Given the description of an element on the screen output the (x, y) to click on. 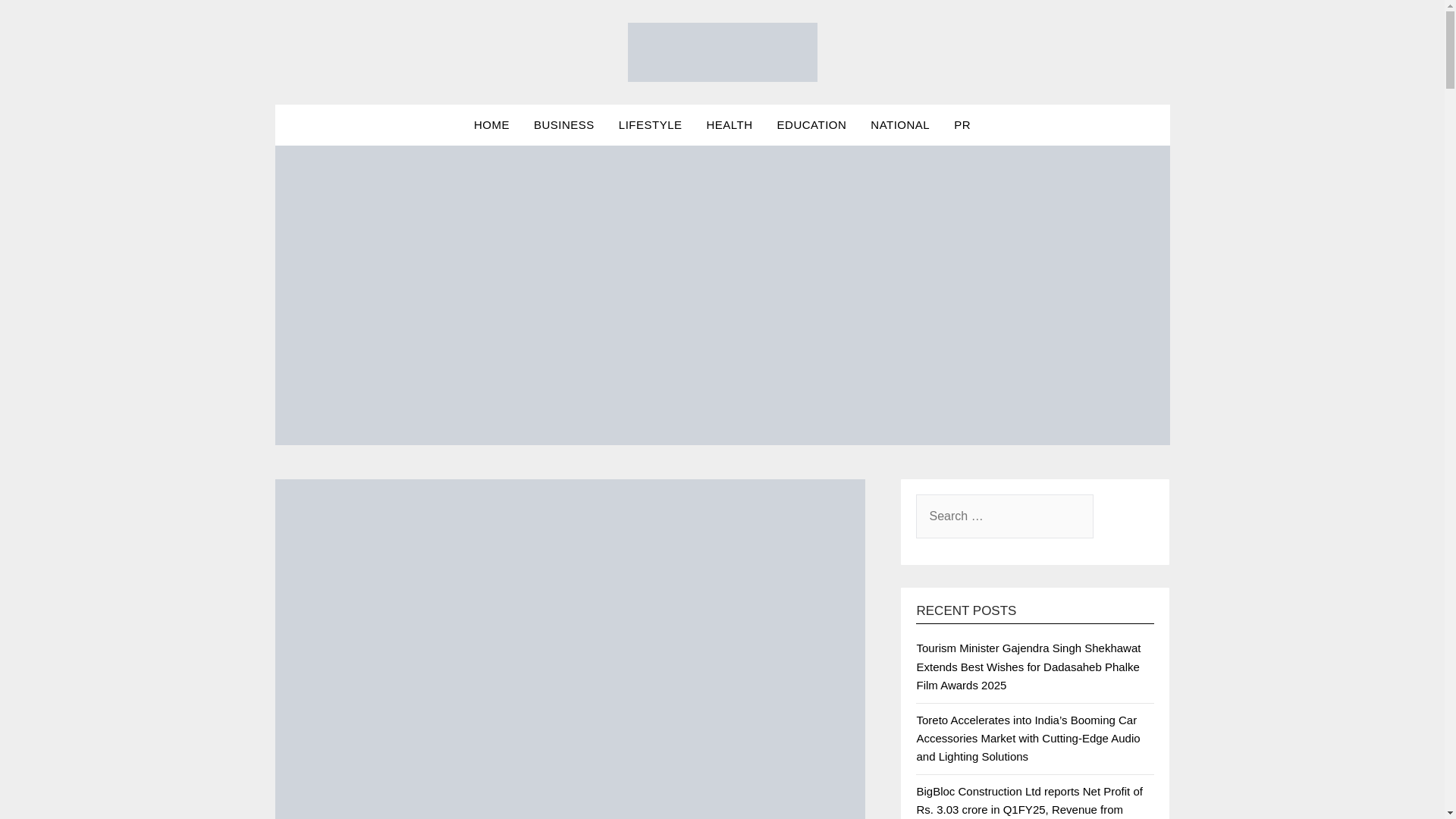
BUSINESS (564, 124)
Search (38, 22)
PR (962, 124)
LIFESTYLE (650, 124)
EDUCATION (812, 124)
NATIONAL (900, 124)
HOME (491, 124)
HEALTH (729, 124)
